Given the description of an element on the screen output the (x, y) to click on. 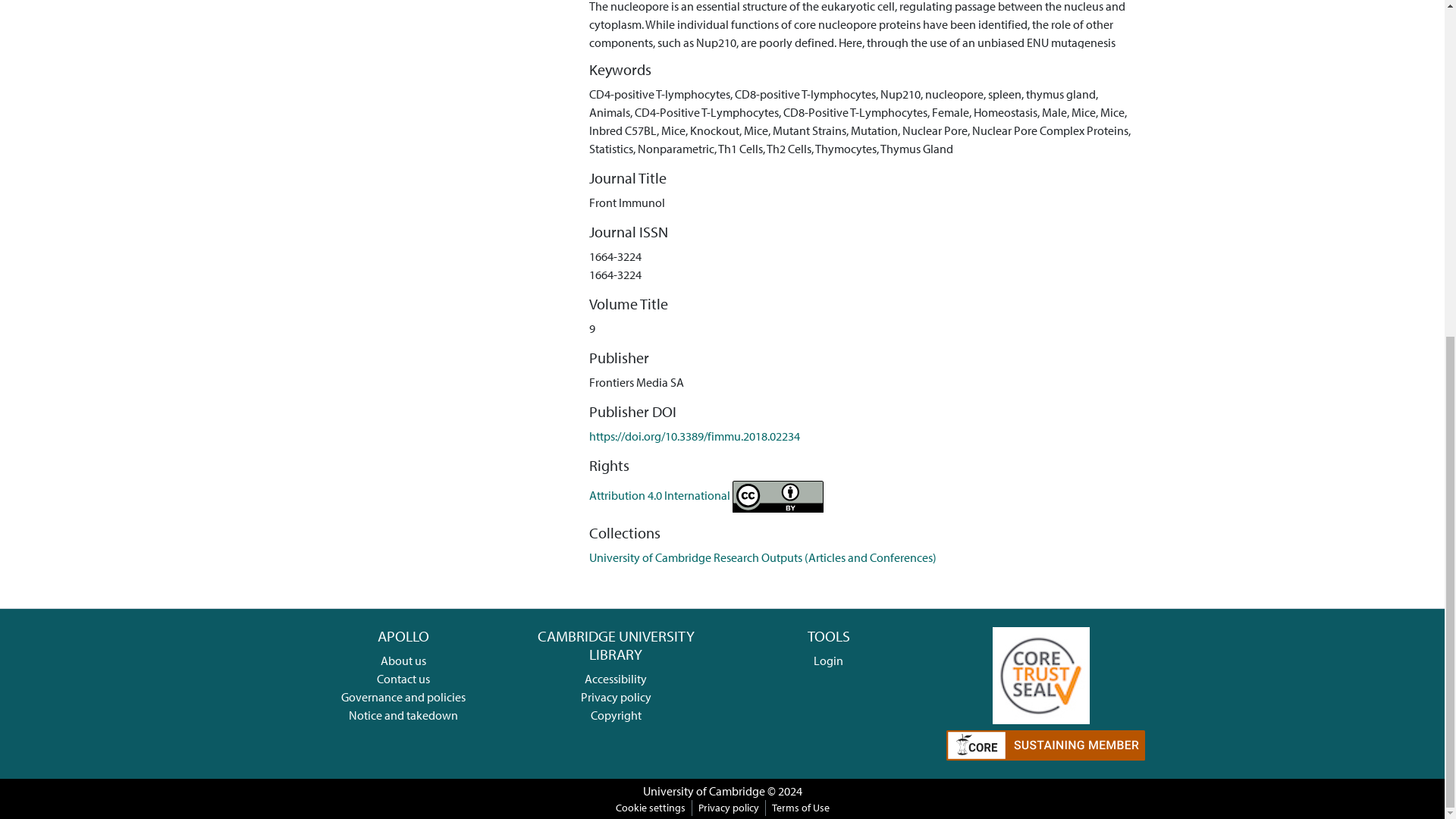
About us (403, 660)
Notice and takedown (403, 714)
Attribution 4.0 International (706, 494)
Apollo CTS full application (1040, 673)
Governance and policies (402, 696)
Contact us (403, 678)
Accessibility (615, 678)
